Given the description of an element on the screen output the (x, y) to click on. 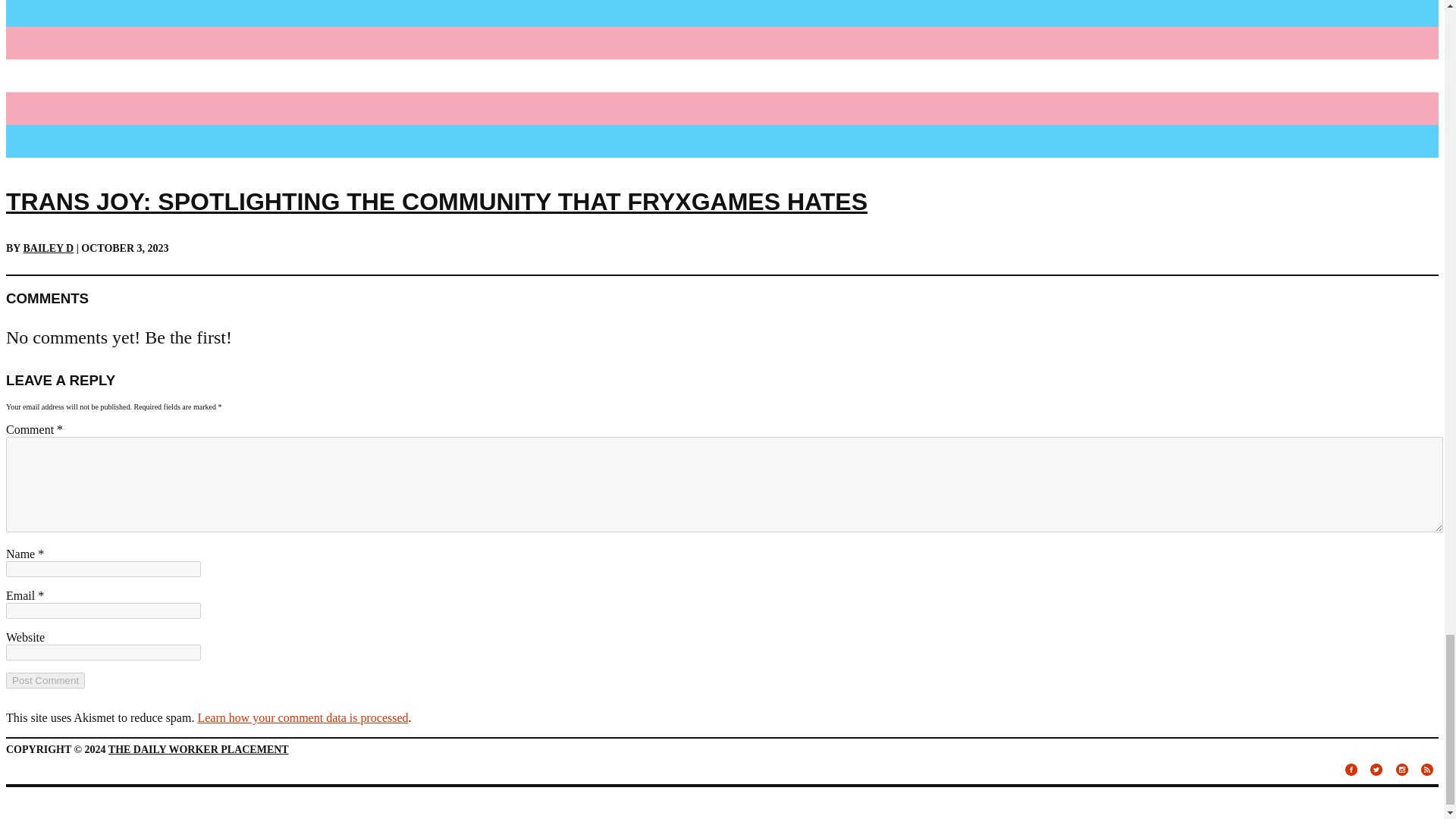
Post Comment (44, 680)
Post Comment (44, 680)
Learn how your comment data is processed (301, 717)
THE DAILY WORKER PLACEMENT (197, 749)
TRANS JOY: SPOTLIGHTING THE COMMUNITY THAT FRYXGAMES HATES (436, 201)
BAILEY D (48, 247)
